Given the description of an element on the screen output the (x, y) to click on. 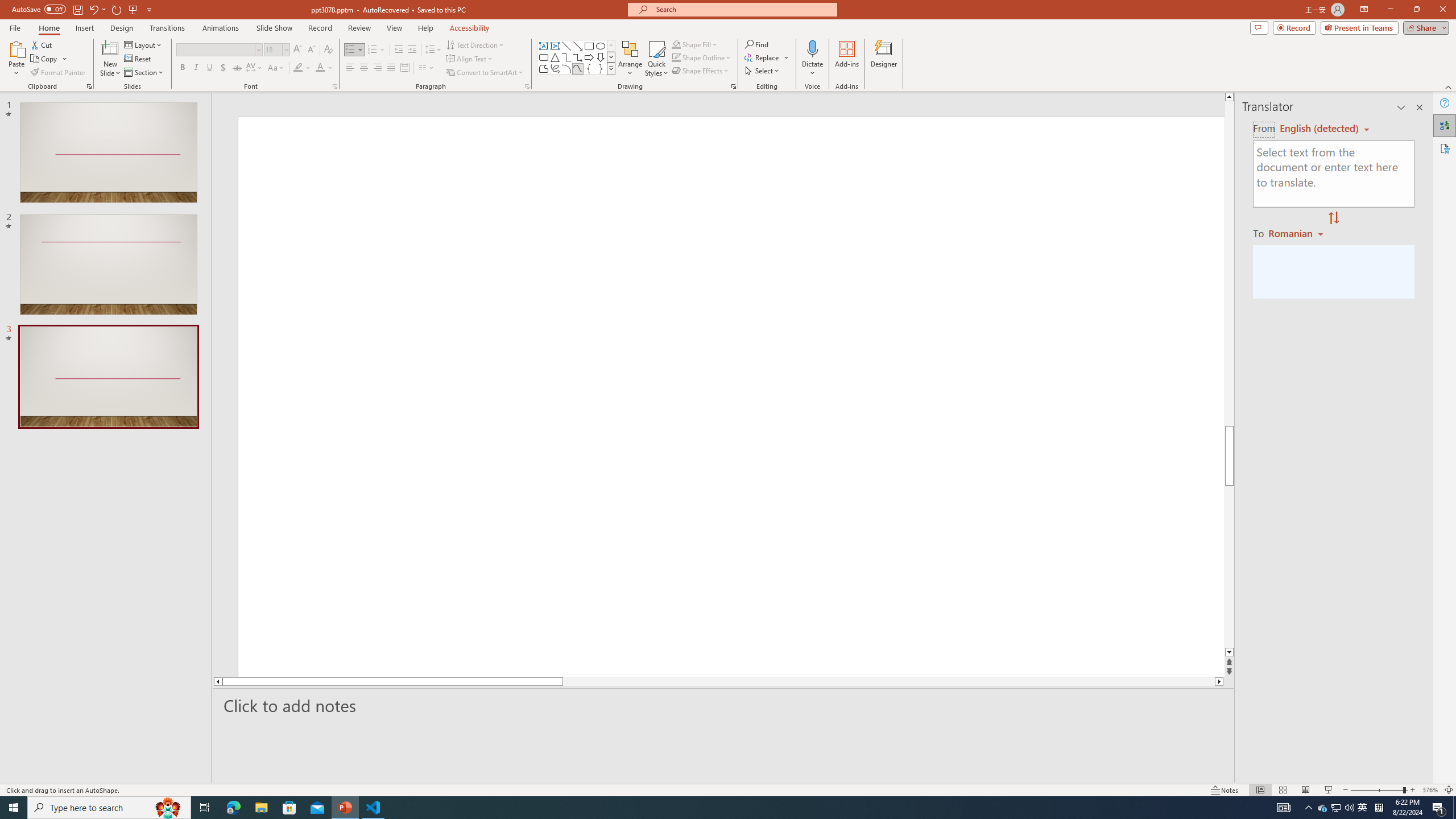
Romanian (1296, 232)
